Given the description of an element on the screen output the (x, y) to click on. 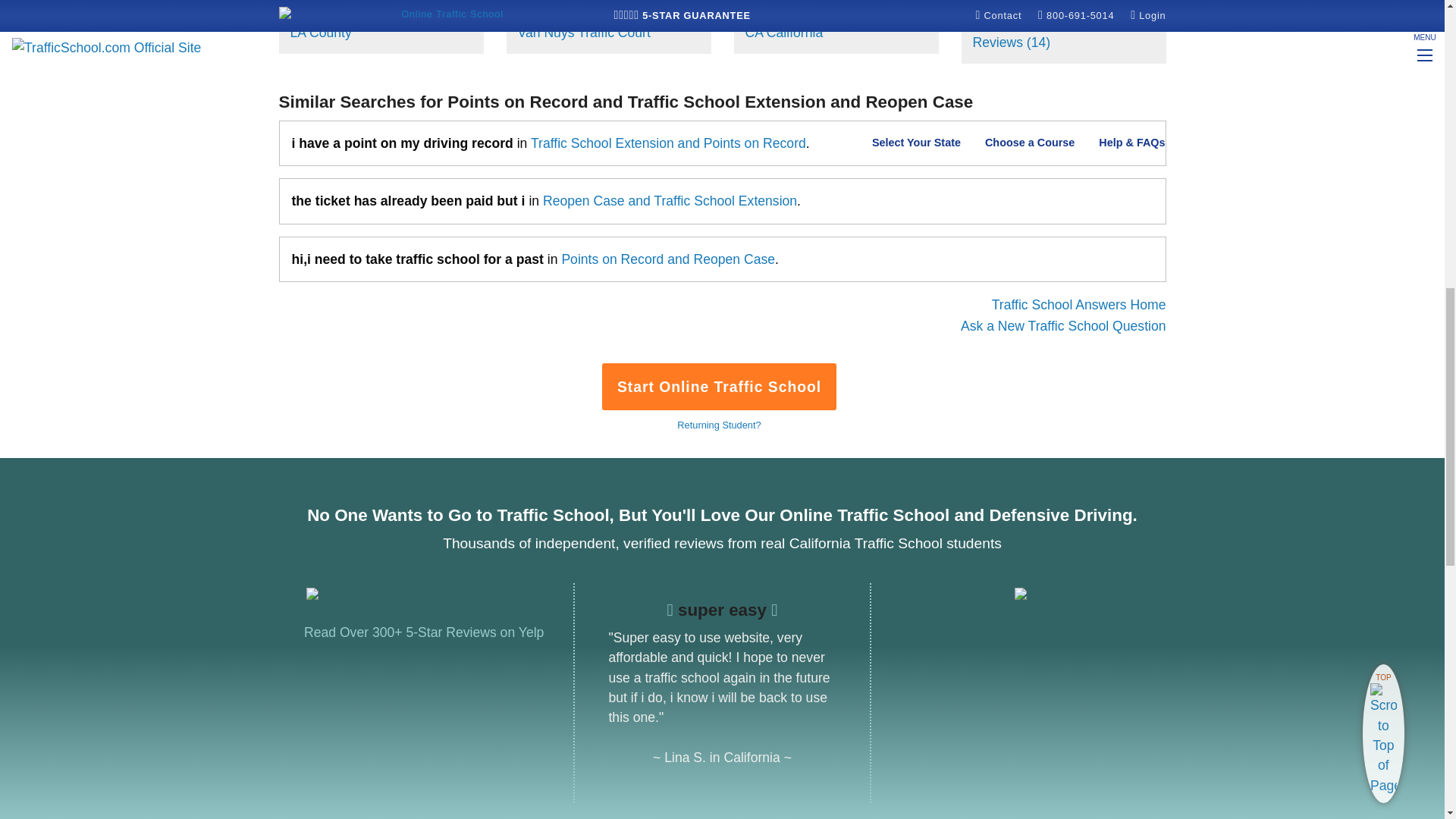
Ask a New Traffic School Question (1063, 325)
Reopen Case and Traffic School Extension (669, 200)
Van Nuys Traffic Court (582, 32)
PACOIMA Traffic School Online Reviews (1055, 31)
Traffic School Extension and Points on Record (668, 142)
LA County (319, 32)
Traffic School Answers Home (1078, 304)
CA California (783, 32)
Returning Student? (718, 424)
Ask Traffic School (1063, 325)
